Given the description of an element on the screen output the (x, y) to click on. 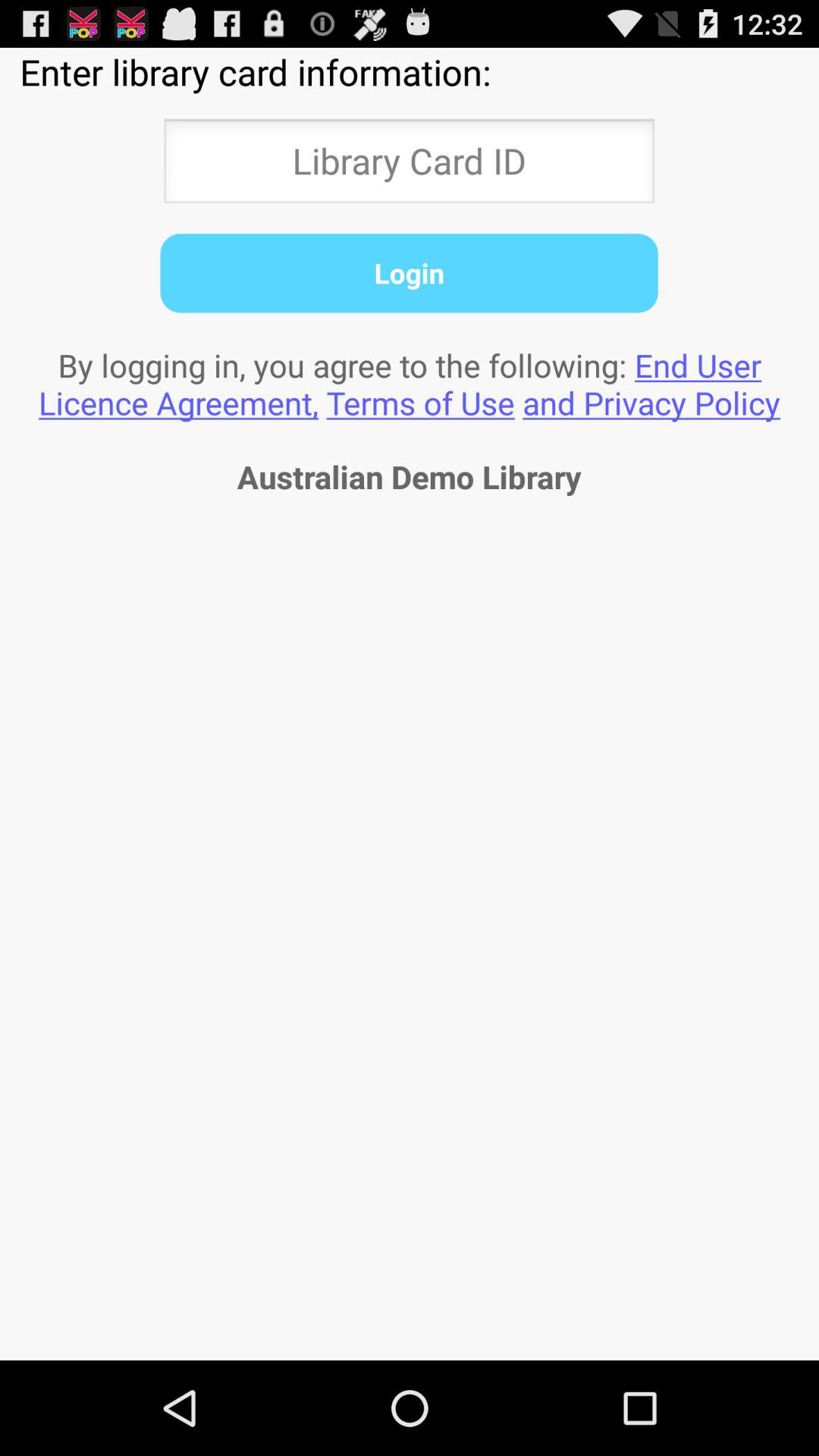
enter library card id (409, 165)
